Given the description of an element on the screen output the (x, y) to click on. 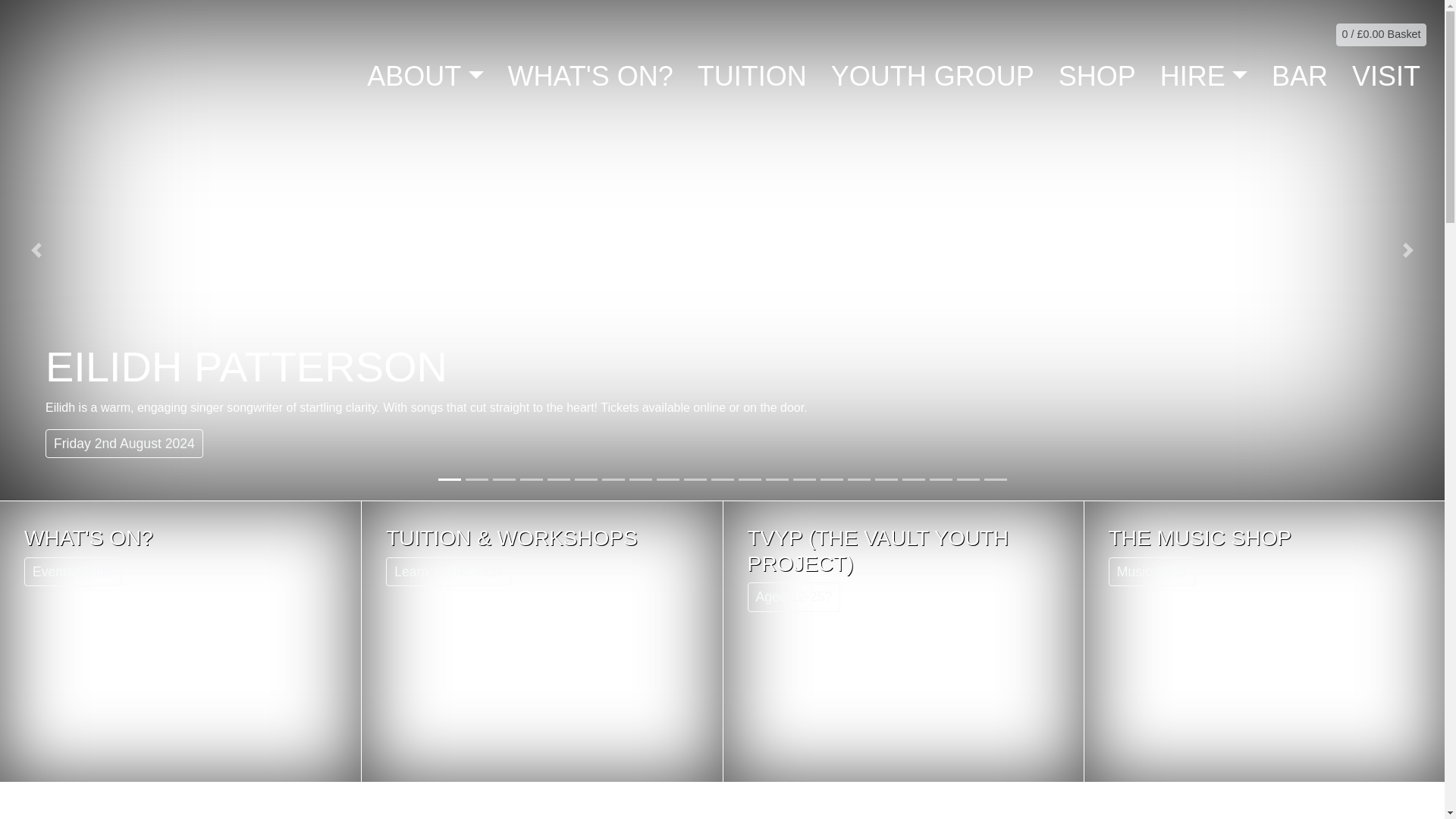
YOUTH GROUP (932, 76)
BAR (1299, 76)
TUITION (751, 76)
ABOUT (425, 76)
VISIT (1385, 76)
SHOP (1097, 76)
HIRE (1203, 76)
Friday 2nd August 2024 (124, 443)
The Vault Arts Centre (166, 74)
WHAT'S ON? (590, 76)
